Given the description of an element on the screen output the (x, y) to click on. 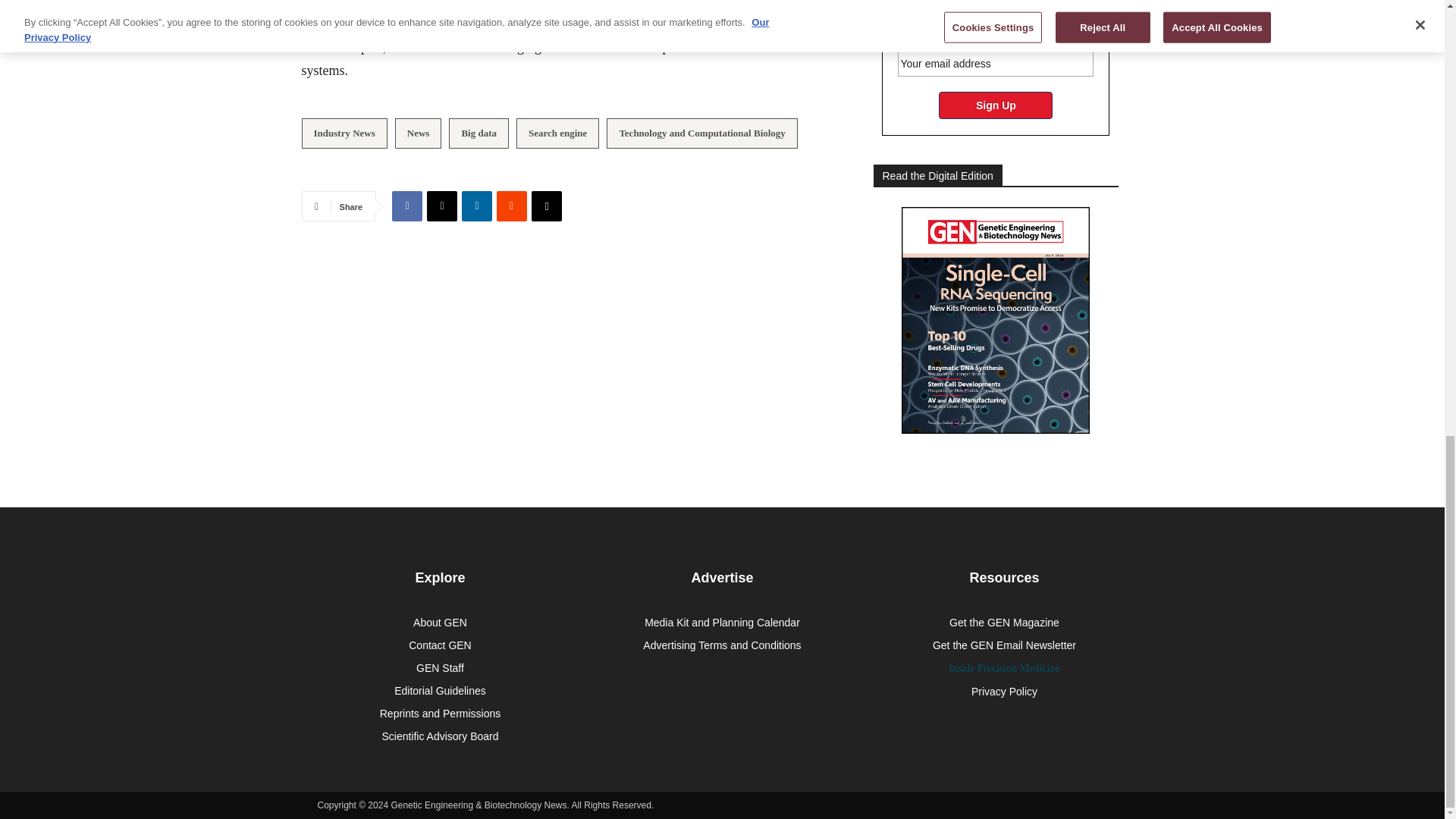
Sign Up (995, 104)
Facebook (406, 205)
